Given the description of an element on the screen output the (x, y) to click on. 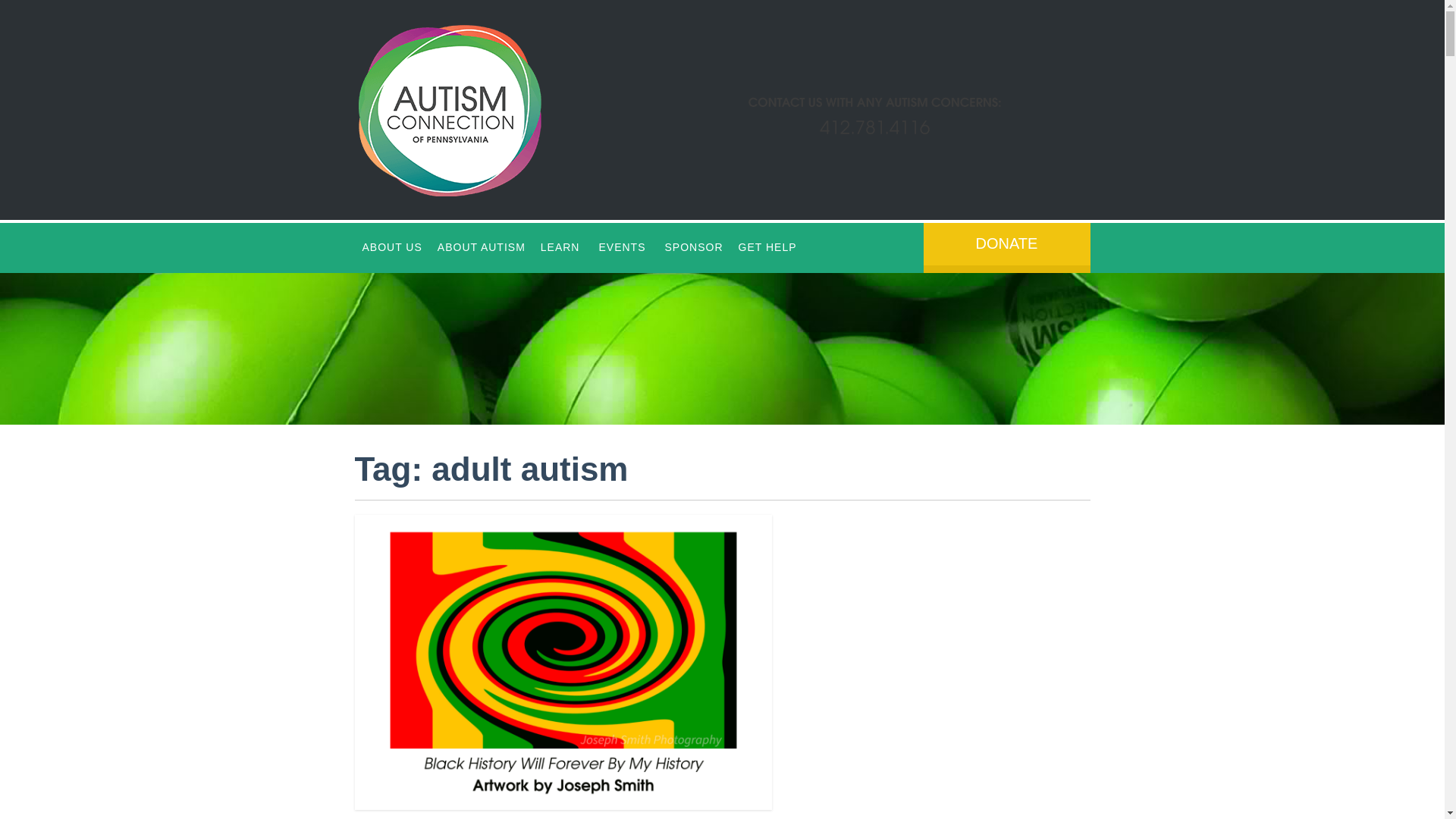
ABOUT AUTISM (480, 247)
DONATE (1006, 247)
EVENTS (621, 247)
GET HELP (767, 247)
SPONSOR (693, 247)
LEARN (560, 247)
ABOUT US (392, 247)
